Given the description of an element on the screen output the (x, y) to click on. 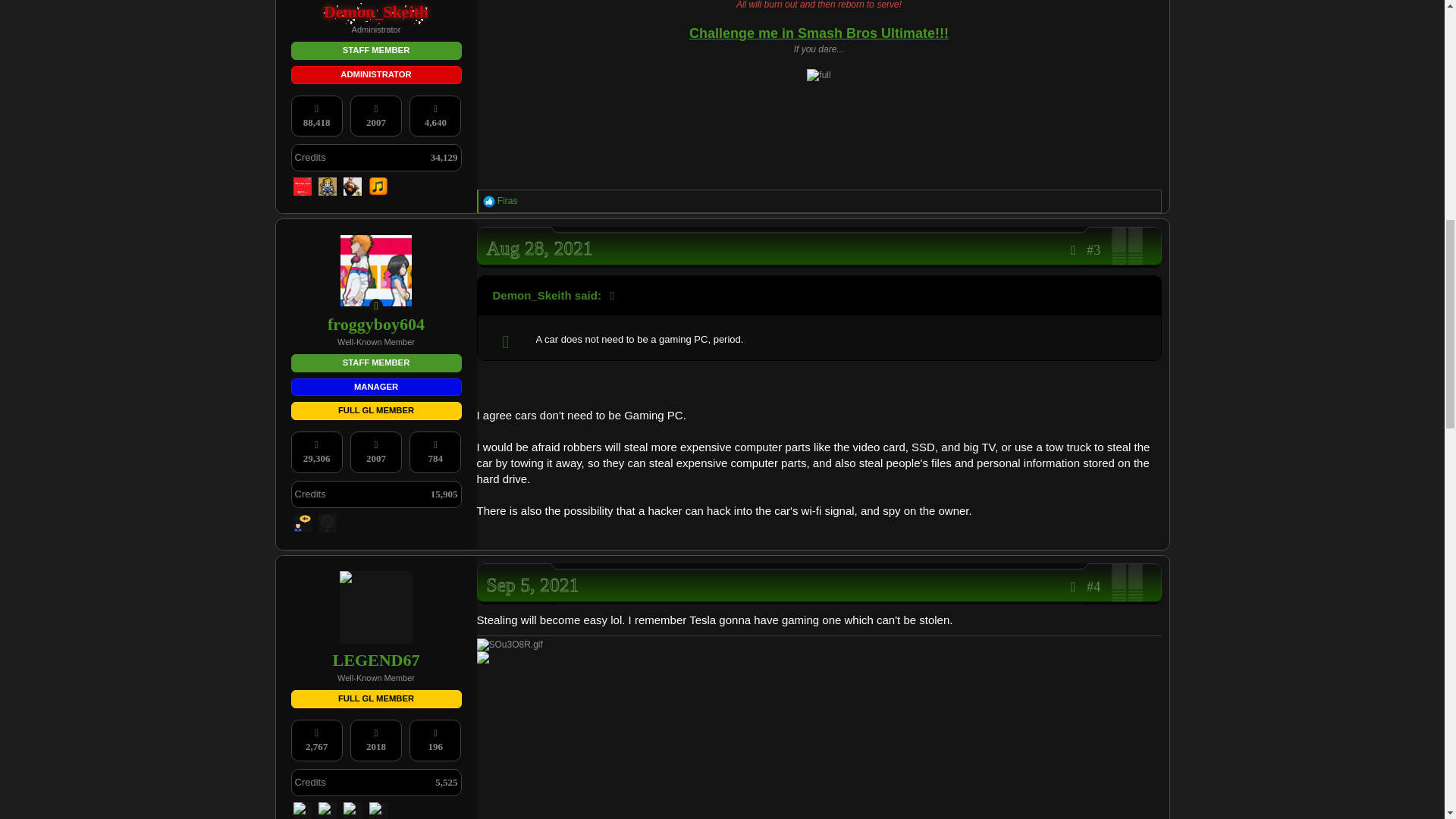
Steal Penalty (327, 186)
You're Rich Money Bags Award (352, 186)
Full year of Nintendo Online (302, 186)
Credits (309, 157)
Profile Music (378, 186)
